Given the description of an element on the screen output the (x, y) to click on. 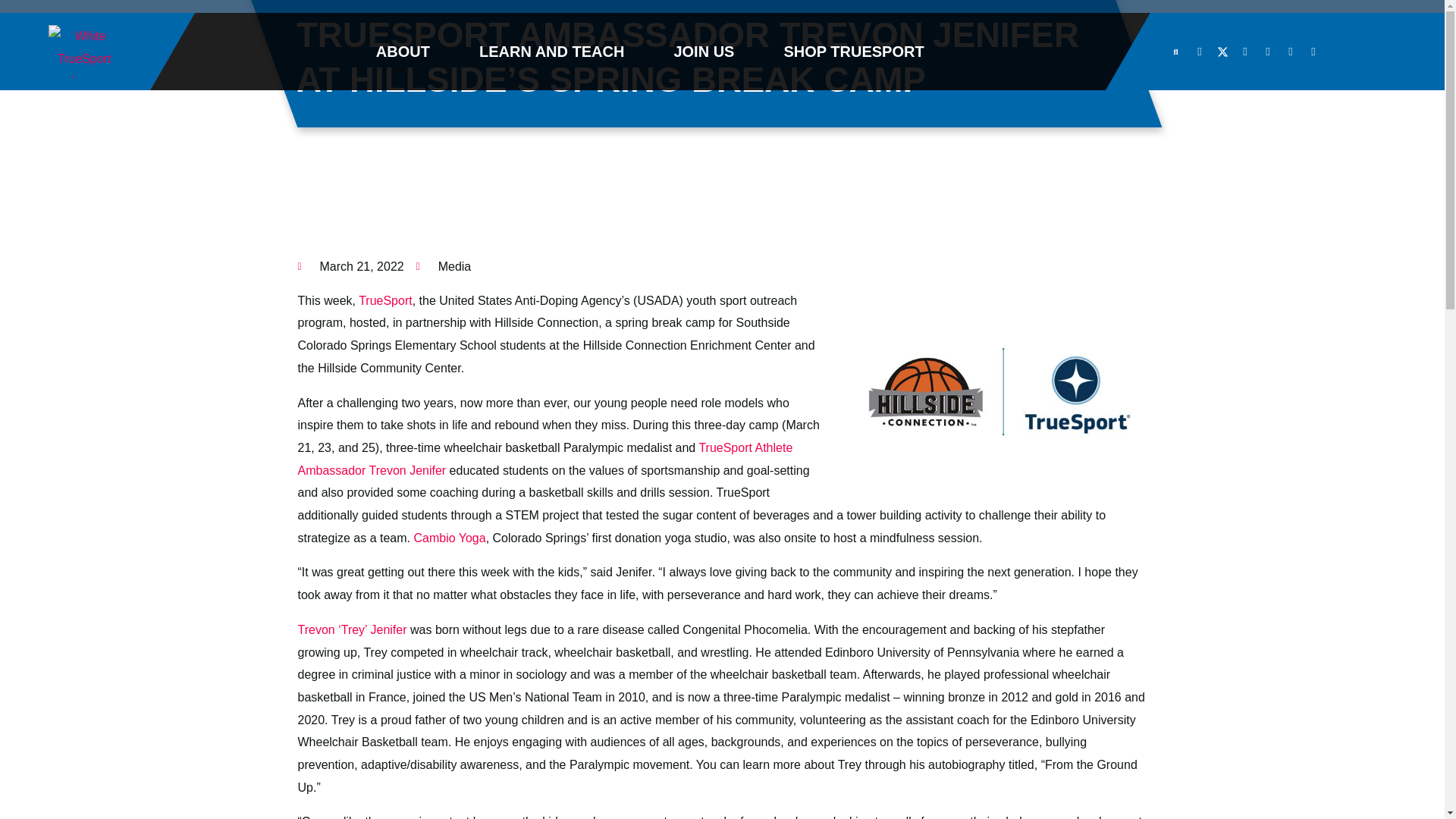
ABOUT (403, 51)
LEARN AND TEACH (551, 51)
Hillside Connection logo and TrueSport logo. (995, 390)
